Given the description of an element on the screen output the (x, y) to click on. 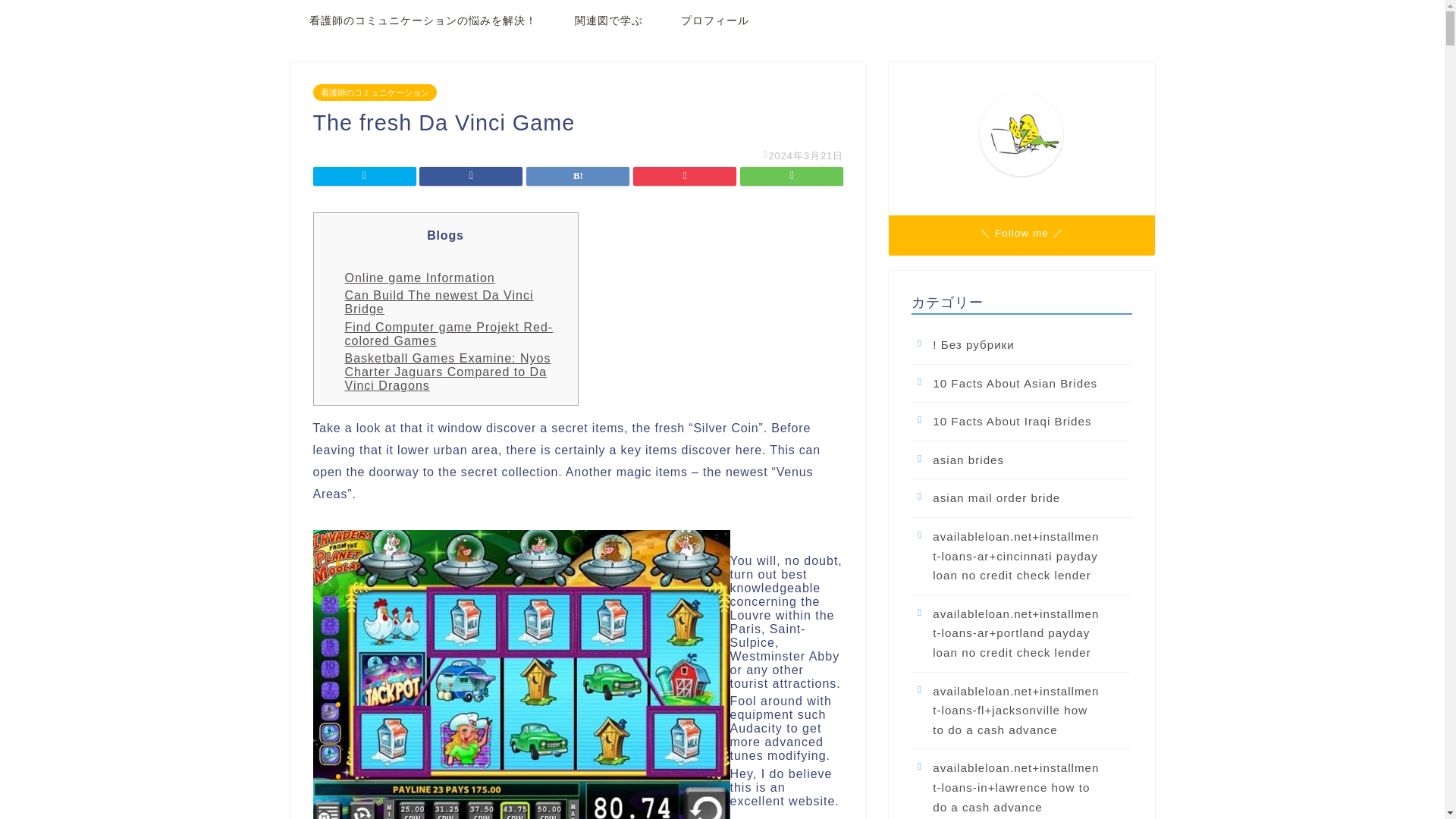
asian mail order bride (1020, 497)
asian brides (1020, 460)
10 Facts About Asian Brides (1020, 383)
10 Facts About Iraqi Brides (1020, 421)
